Given the description of an element on the screen output the (x, y) to click on. 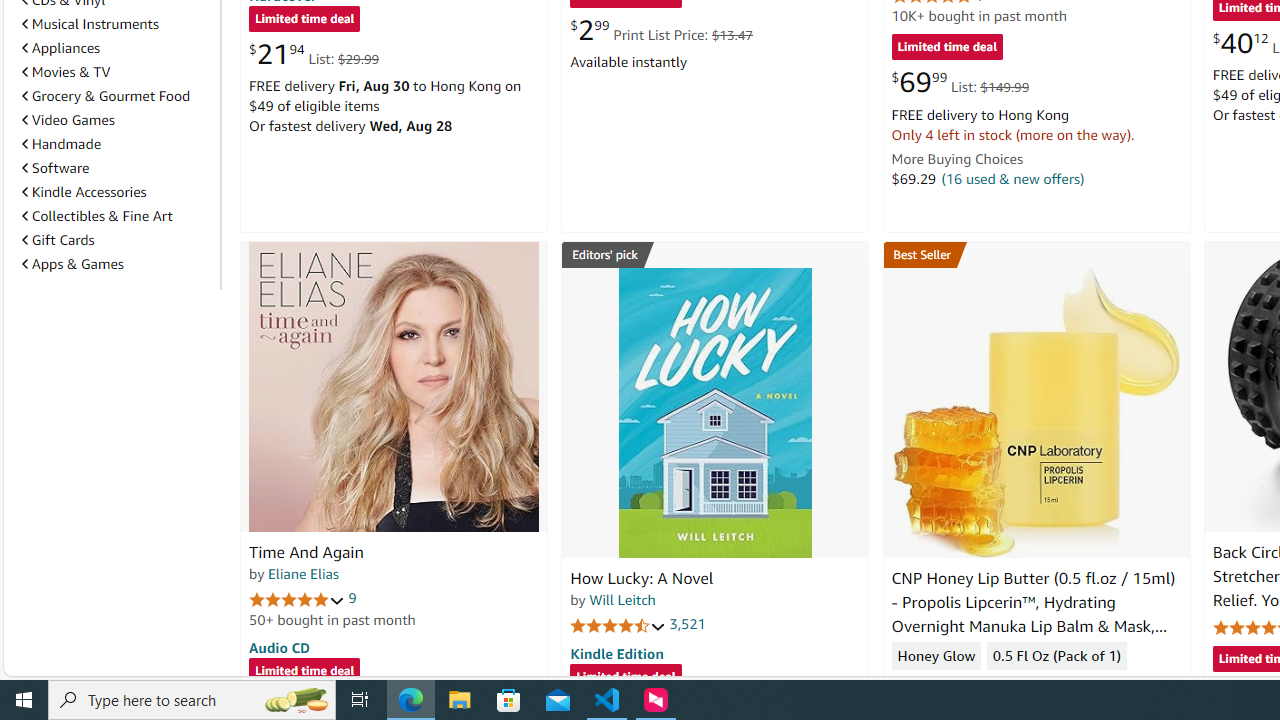
Video Games (117, 120)
Editors' pick Best Mystery, Thriller & Suspense (715, 254)
Kindle Accessories (117, 192)
Time And Again (393, 386)
Will Leitch (621, 599)
Appliances (117, 48)
Eliane Elias (303, 573)
Musical Instruments (89, 24)
Gift Cards (57, 240)
How Lucky: A Novel (714, 412)
Kindle Accessories (84, 191)
Appliances (61, 47)
Handmade (61, 143)
Movies & TV (117, 71)
